Given the description of an element on the screen output the (x, y) to click on. 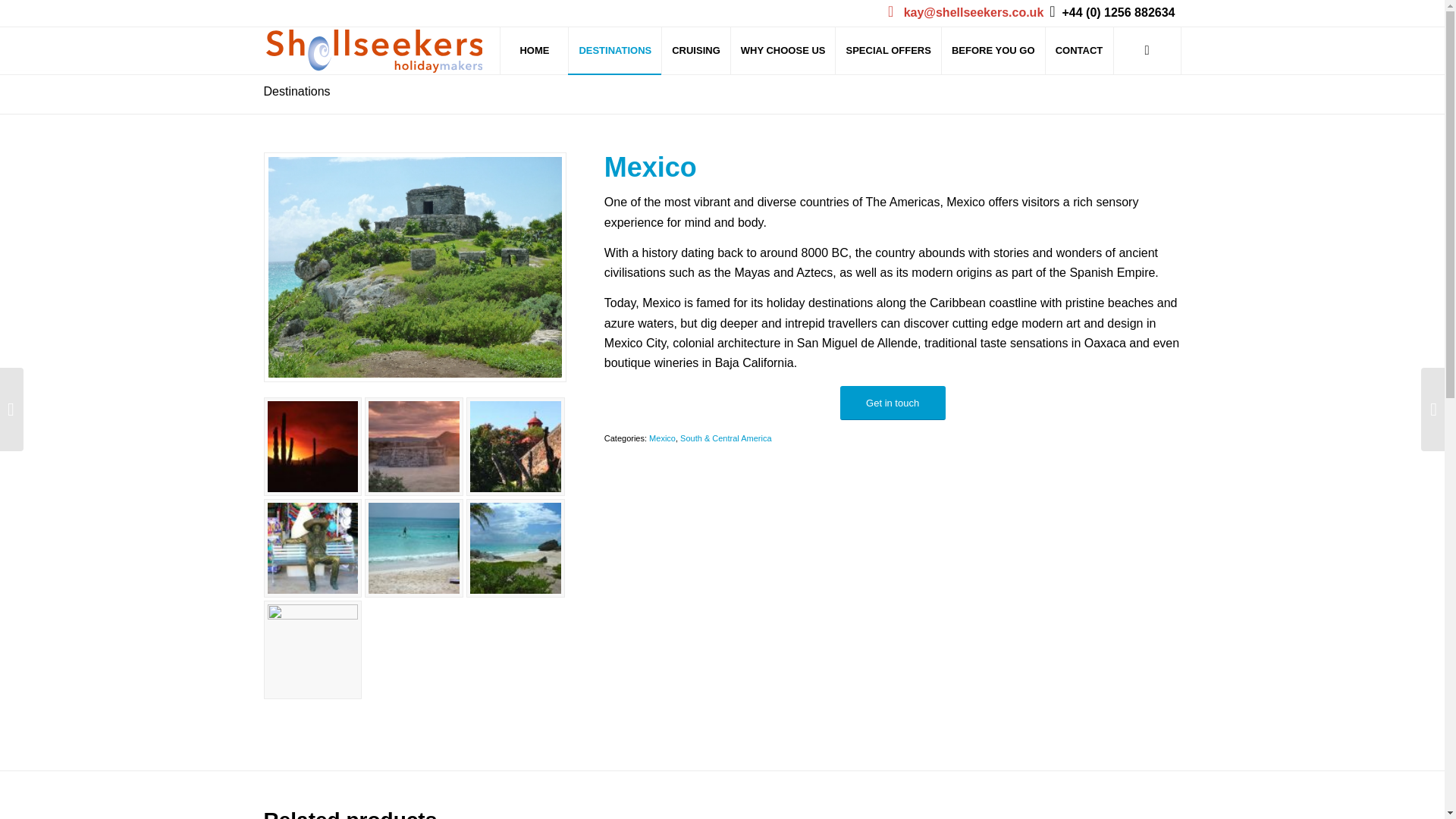
DESTINATIONS (614, 50)
logo (372, 50)
Permanent Link: Destinations (296, 91)
logo (372, 50)
HOME (533, 50)
